Given the description of an element on the screen output the (x, y) to click on. 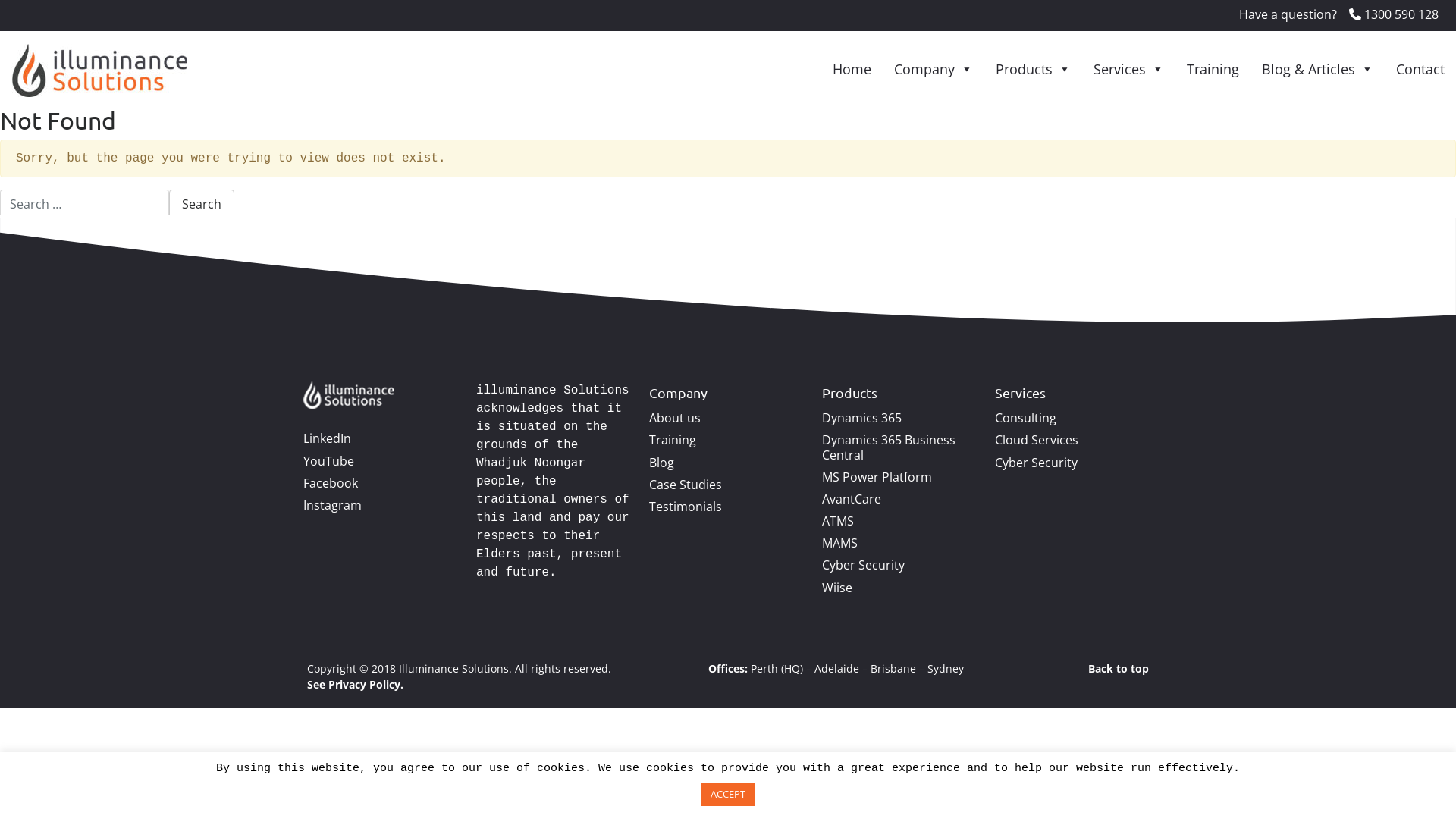
Facebook Element type: text (330, 482)
Consulting Element type: text (1025, 417)
Search Element type: text (201, 203)
Home Element type: text (851, 68)
Testimonials Element type: text (685, 506)
See Privacy Policy. Element type: text (355, 684)
Services Element type: text (1128, 68)
About us Element type: text (674, 417)
Wiise Element type: text (837, 587)
ACCEPT Element type: text (727, 794)
Back to top Element type: text (1118, 668)
LinkedIn Element type: text (327, 437)
Blog & Articles Element type: text (1317, 68)
ATMS Element type: text (837, 520)
MAMS Element type: text (839, 542)
Cyber Security Element type: text (863, 564)
YouTube Element type: text (328, 460)
Training Element type: text (1212, 68)
Training Element type: text (672, 439)
Cloud Services Element type: text (1036, 439)
Dynamics 365 Business Central Element type: text (888, 446)
MS Power Platform Element type: text (876, 476)
Cyber Security Element type: text (1035, 462)
Instagram Element type: text (332, 504)
Products Element type: text (1033, 68)
Blog Element type: text (661, 462)
Company Element type: text (933, 68)
AvantCare Element type: text (851, 498)
Dynamics 365 Element type: text (861, 417)
1300 590 128 Element type: text (1393, 14)
Case Studies Element type: text (685, 484)
